Given the description of an element on the screen output the (x, y) to click on. 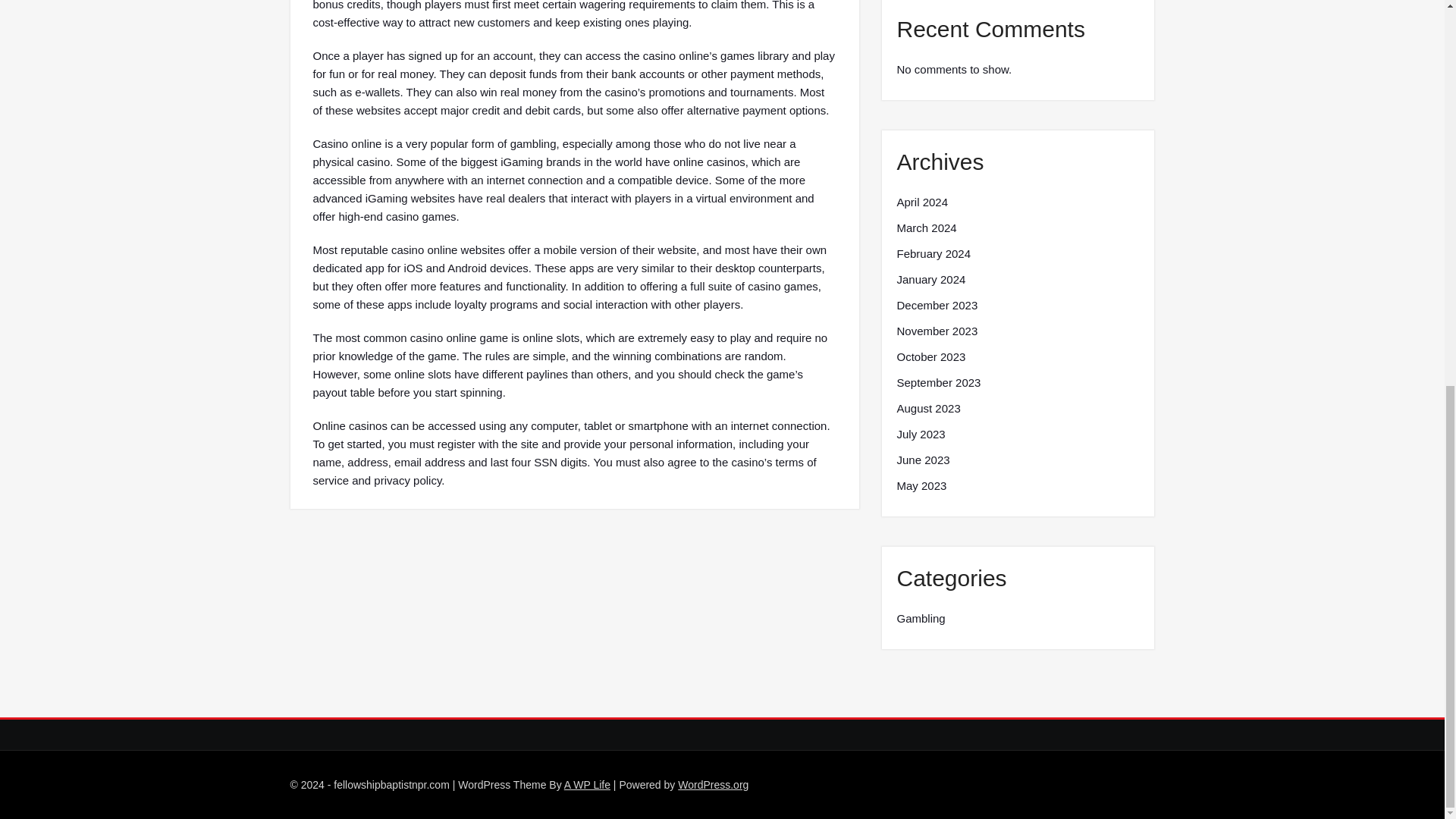
March 2024 (926, 228)
July 2023 (920, 434)
December 2023 (936, 305)
November 2023 (936, 331)
October 2023 (930, 357)
April 2024 (921, 202)
A WP Life (587, 784)
June 2023 (922, 460)
January 2024 (930, 280)
Gambling (920, 618)
